Given the description of an element on the screen output the (x, y) to click on. 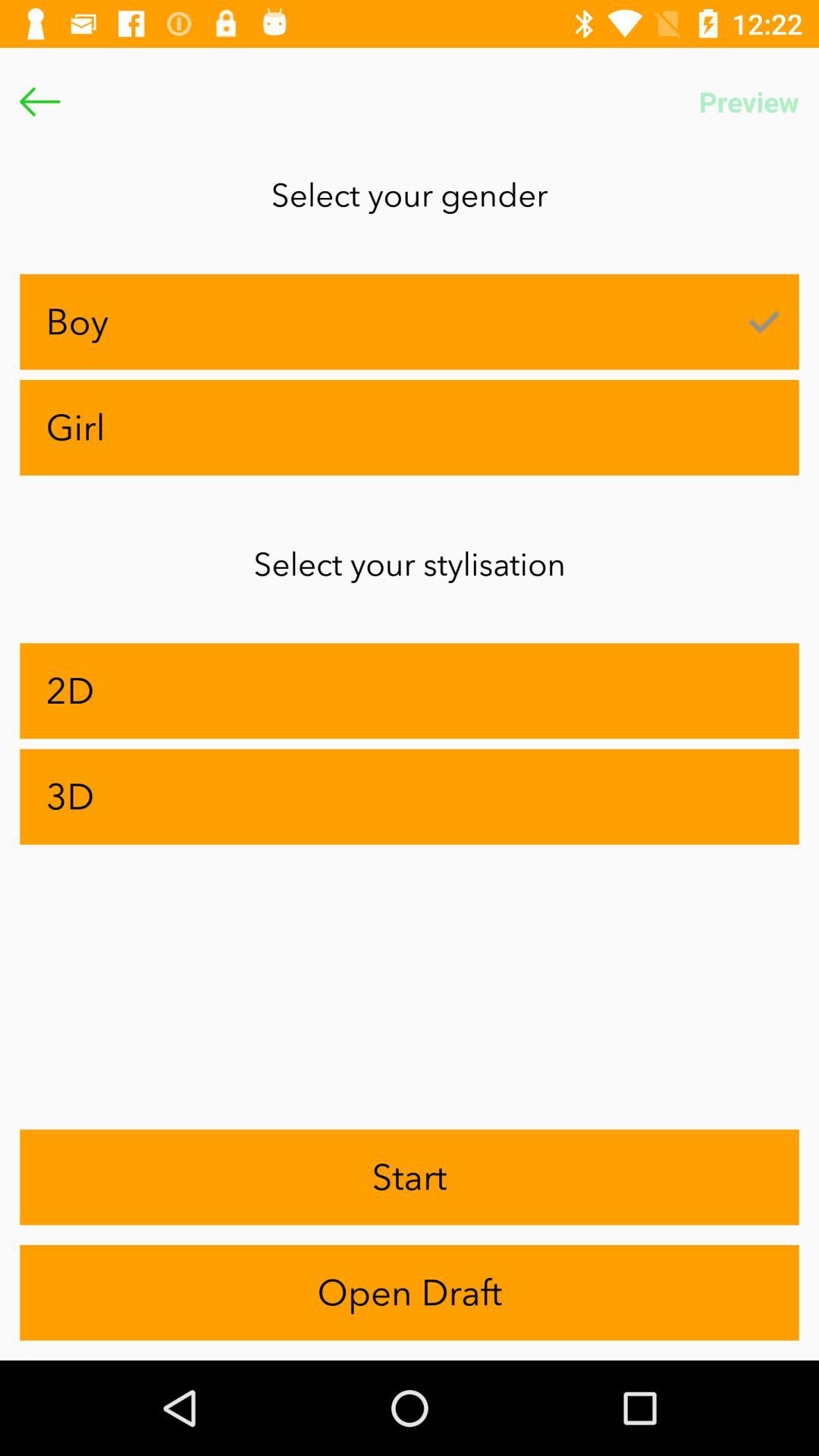
boy girl gender (40, 101)
